Given the description of an element on the screen output the (x, y) to click on. 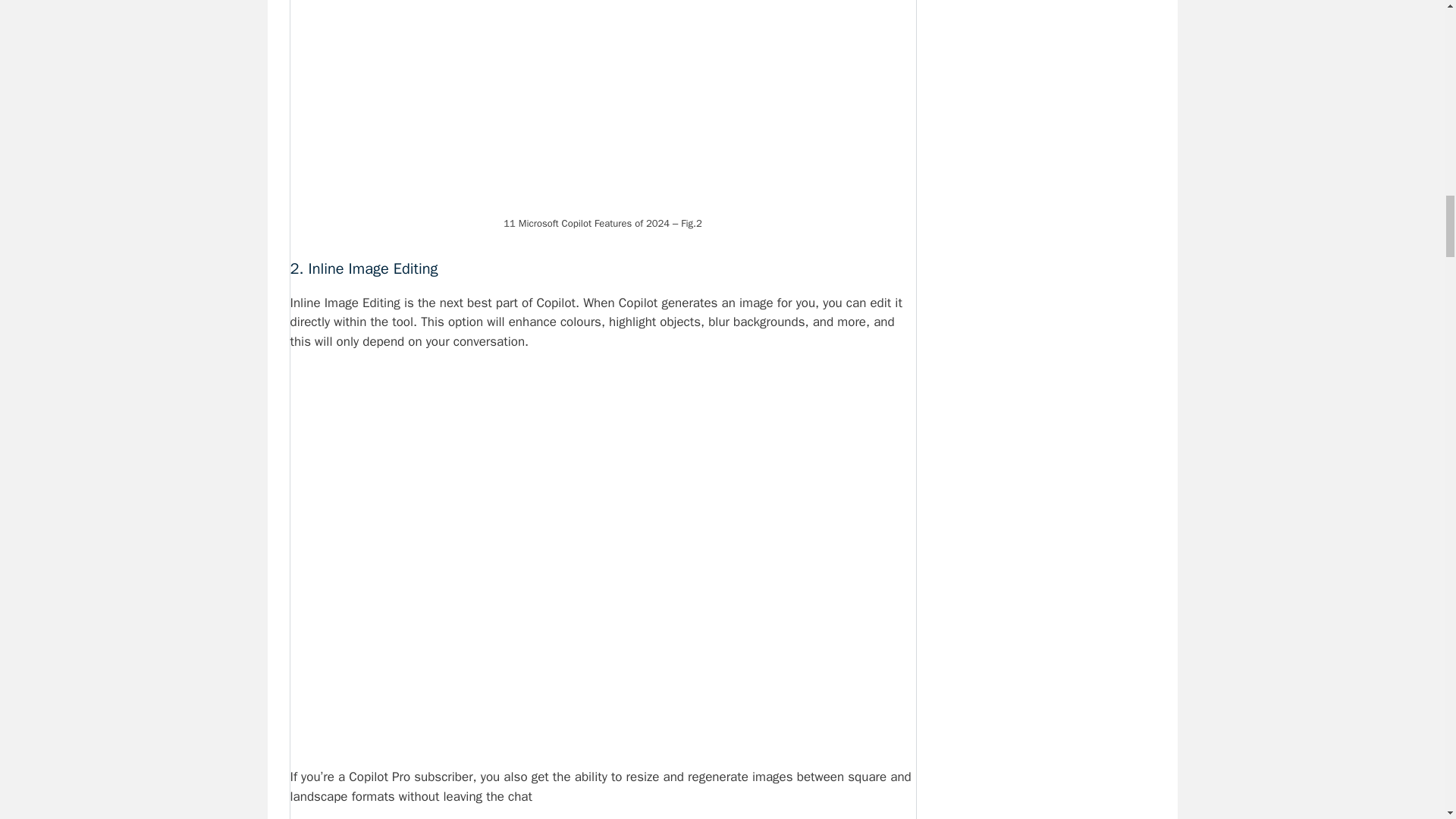
11 Microsoft Copilot Features of 2024 2 (602, 105)
